Given the description of an element on the screen output the (x, y) to click on. 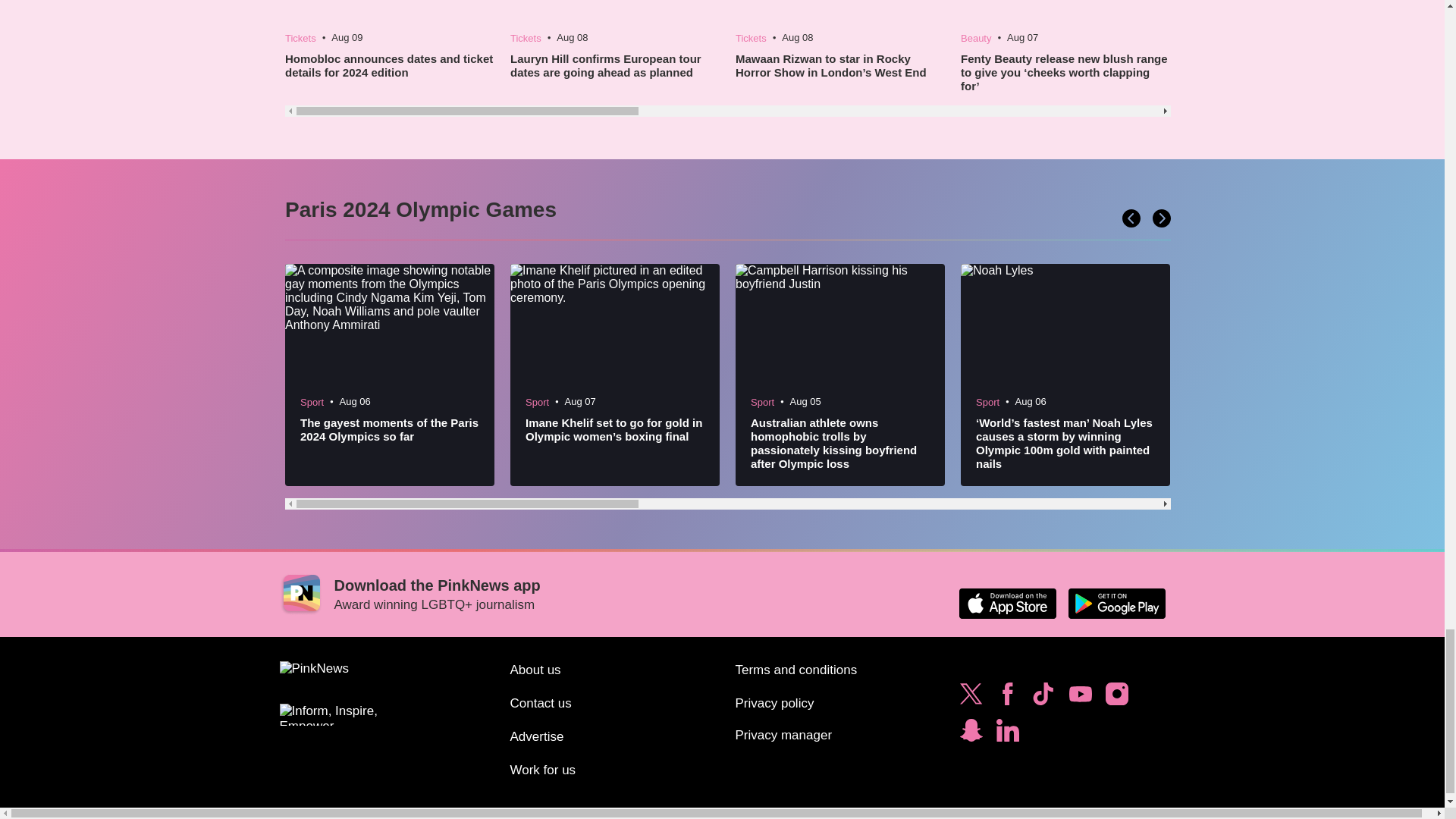
Subscribe to PinkNews on YouTube (1079, 697)
Follow PinkNews on Twitter (970, 697)
Download the PinkNews app on the Apple App Store (1006, 603)
Follow PinkNews on TikTok (1042, 697)
Follow PinkNews on Instagram (1116, 697)
Download the PinkNews app on Google Play (1115, 603)
Subscribe to PinkNews on Snapchat (970, 733)
Follow PinkNews on LinkedIn (1007, 733)
